Given the description of an element on the screen output the (x, y) to click on. 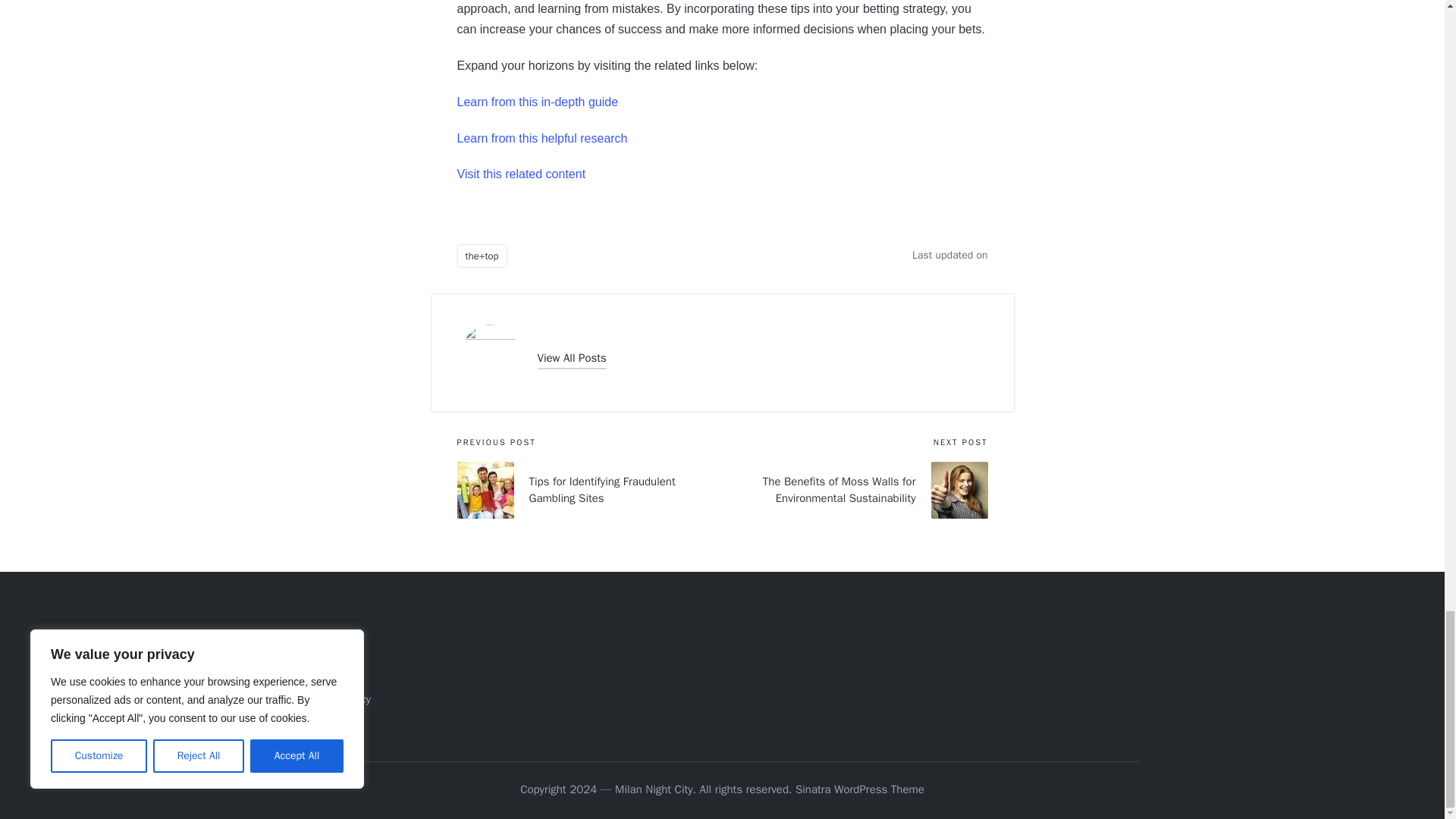
Tips for Identifying Fraudulent Gambling Sites (589, 489)
About (318, 649)
View All Posts (571, 358)
Learn from this helpful research (542, 137)
Visit this related content (521, 173)
Contact (323, 674)
Sinatra WordPress Theme (859, 790)
The Benefits of Moss Walls for Environmental Sustainability (854, 489)
Learn from this in-depth guide (537, 101)
Privacy Policy (337, 698)
